Given the description of an element on the screen output the (x, y) to click on. 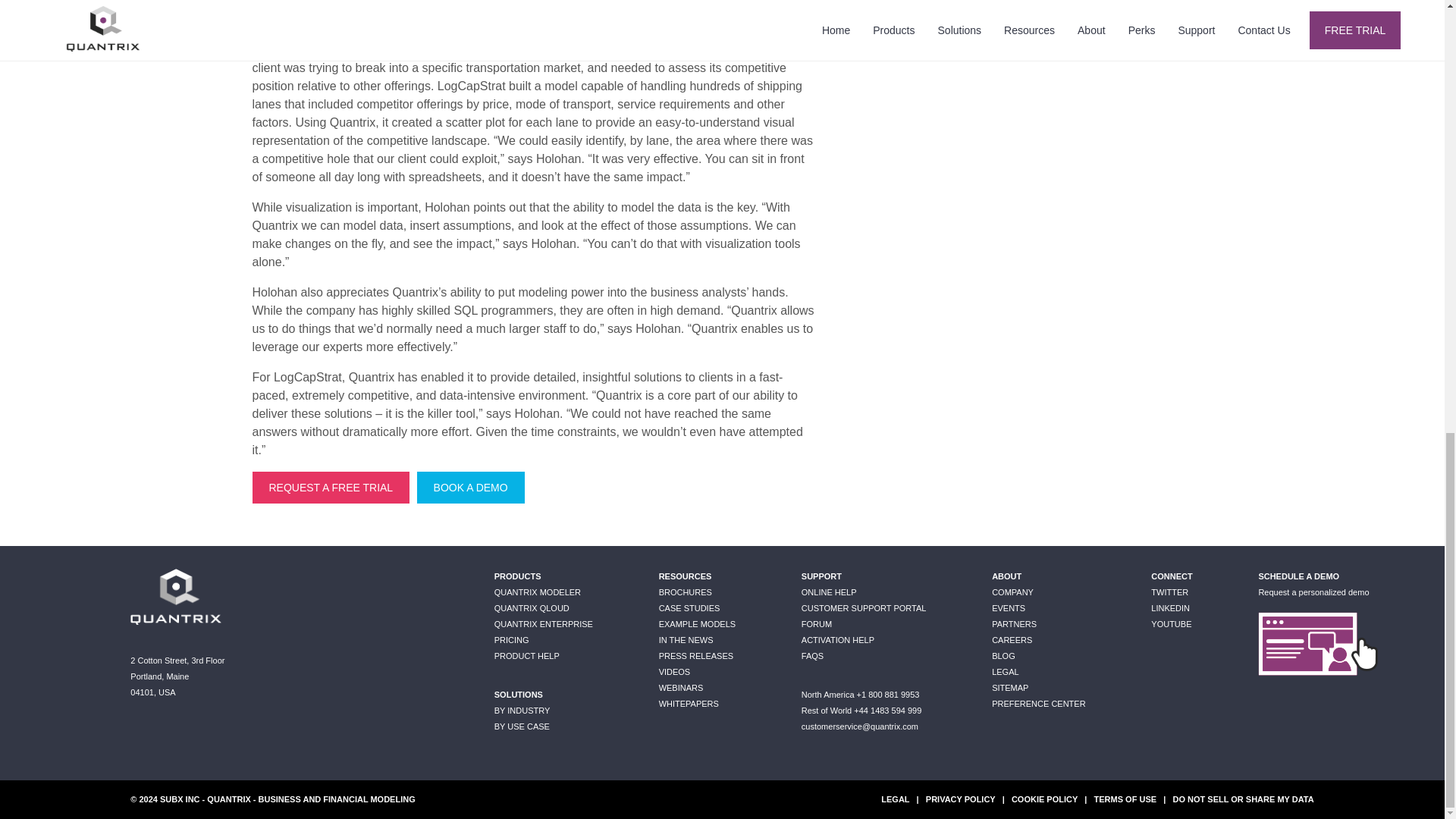
QUANTRIX MODELER (537, 592)
REQUEST A FREE TRIAL (330, 487)
BOOK A DEMO (470, 487)
PRODUCTS (518, 575)
QUANTRIX QLOUD (532, 607)
